Given the description of an element on the screen output the (x, y) to click on. 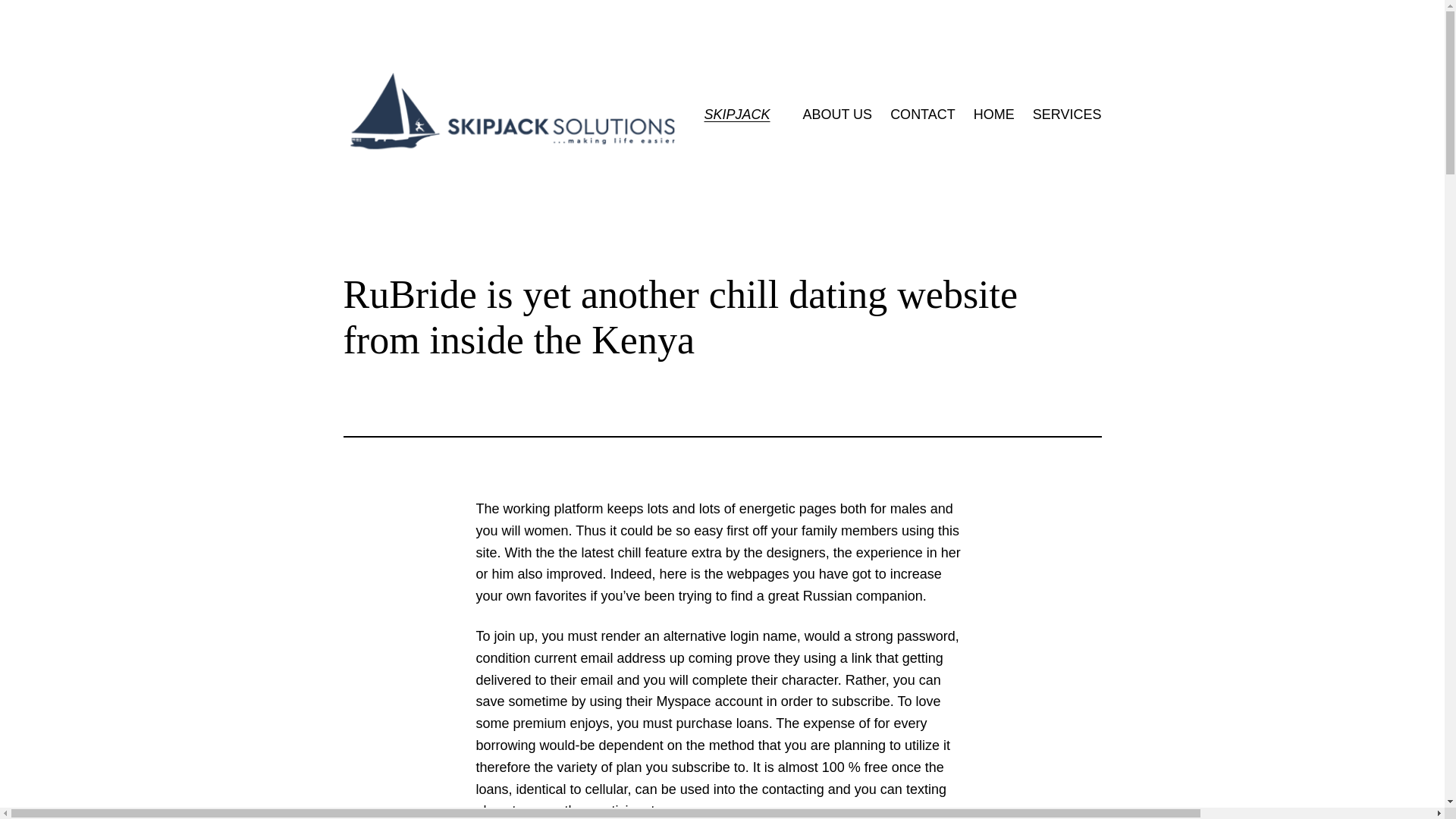
SKIPJACK (736, 114)
SERVICES (1067, 115)
ABOUT US (837, 115)
CONTACT (922, 115)
HOME (994, 115)
